Given the description of an element on the screen output the (x, y) to click on. 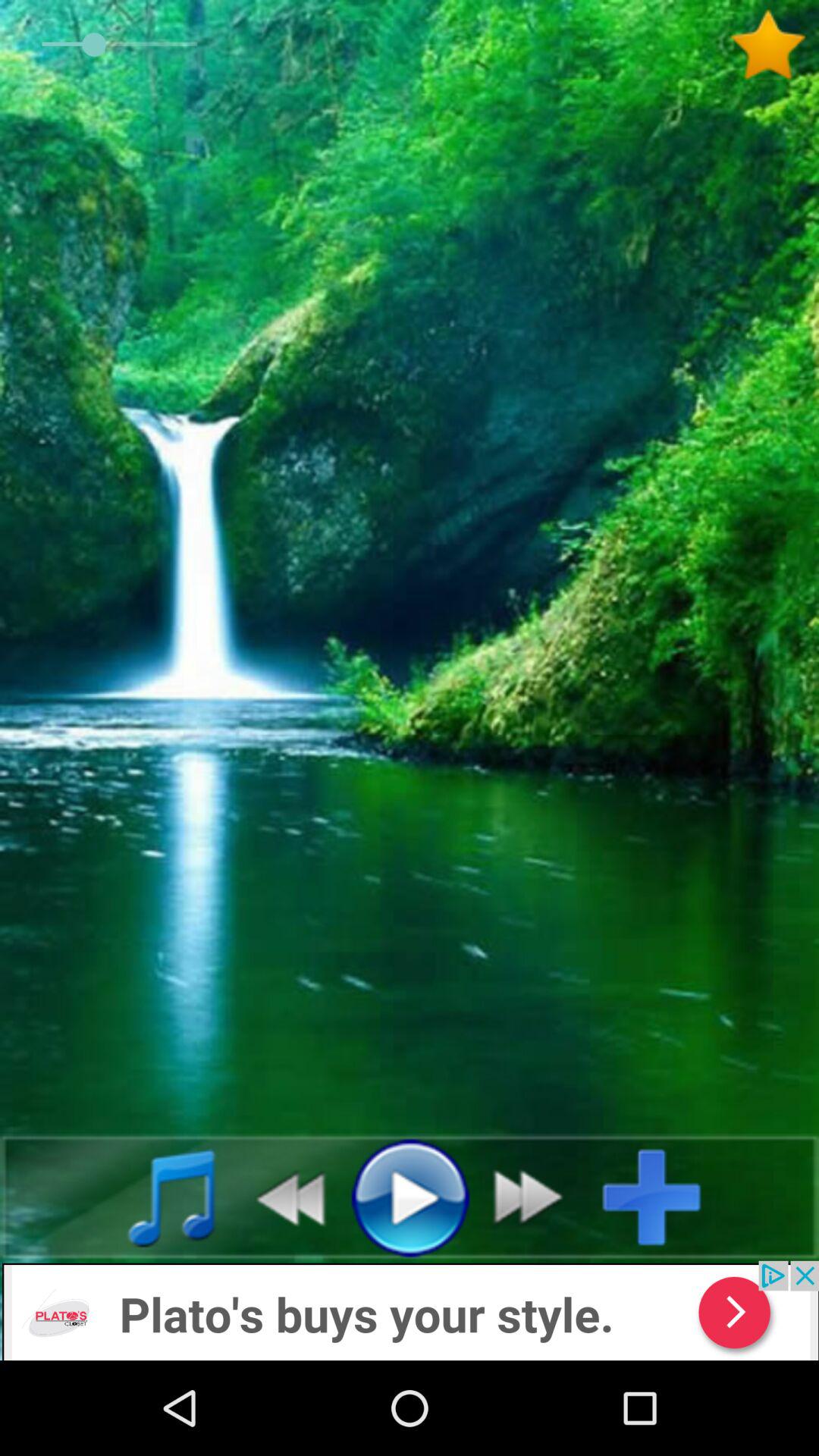
switch song (536, 1196)
